Given the description of an element on the screen output the (x, y) to click on. 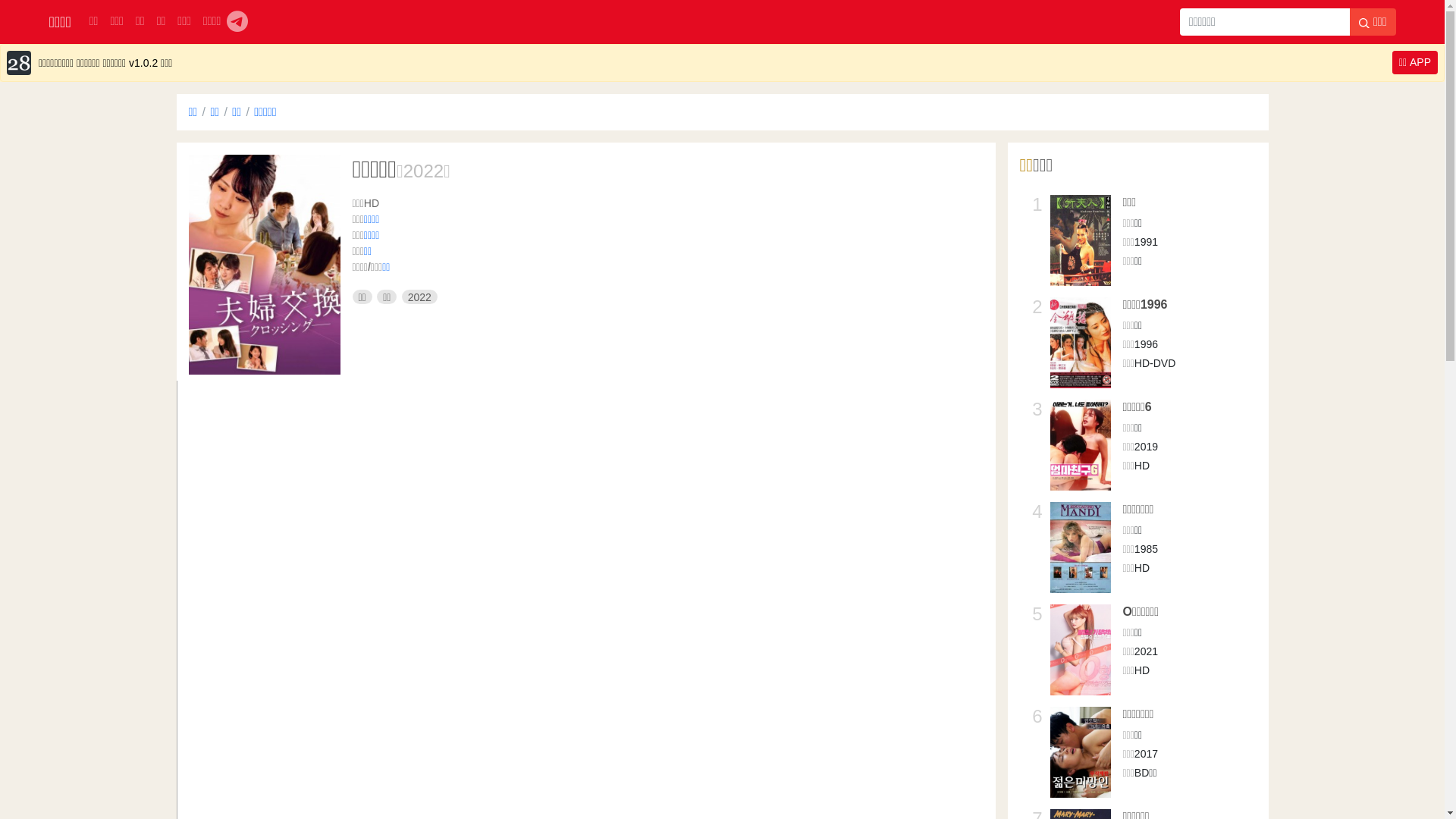
2022 Element type: text (423, 170)
2022 Element type: text (419, 296)
